Given the description of an element on the screen output the (x, y) to click on. 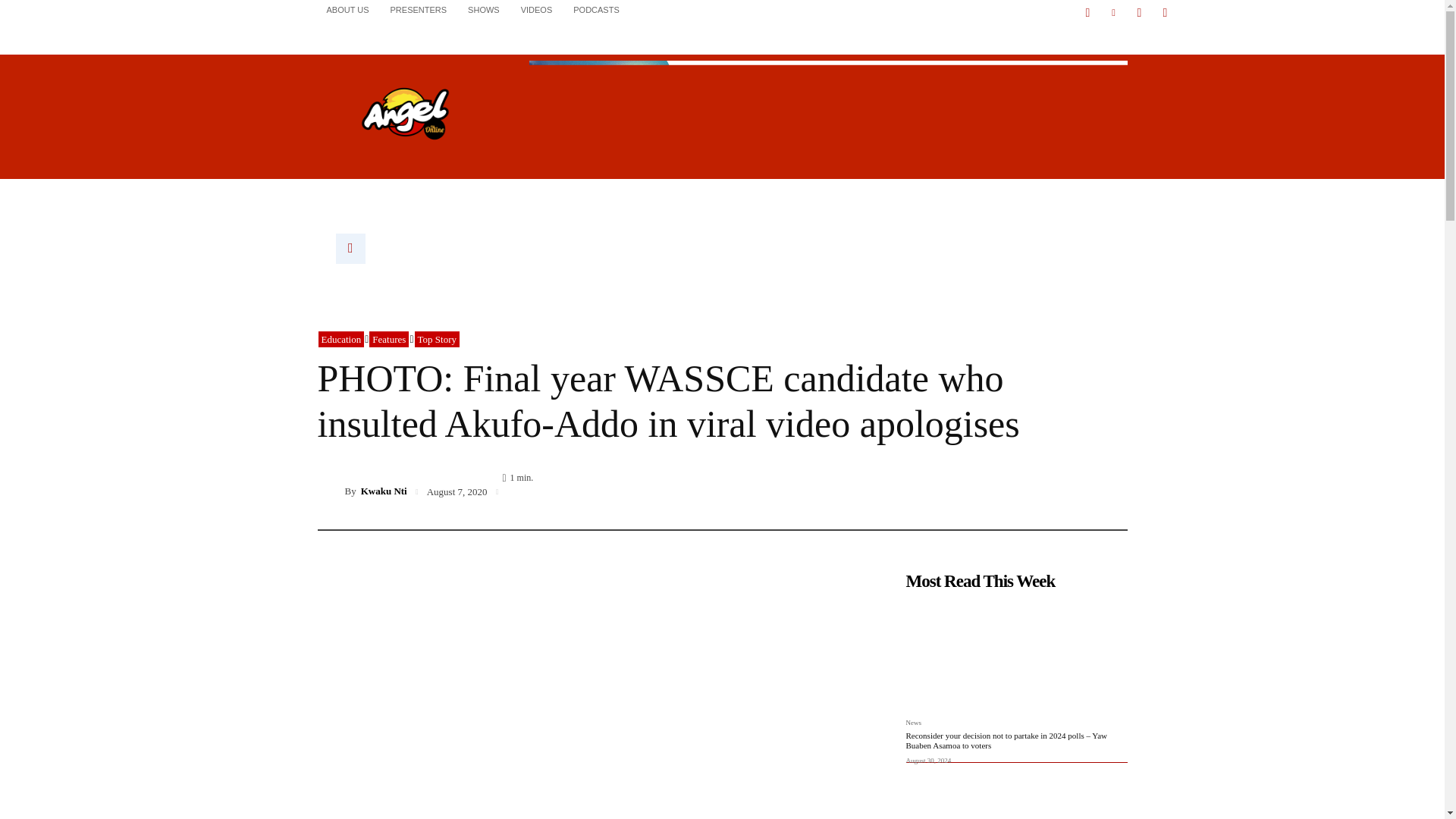
Twitter (1138, 13)
Kwaku Nti (330, 490)
PODCASTS (596, 9)
ABOUT US (346, 9)
SHOWS (484, 9)
Facebook (1087, 13)
Youtube (1164, 13)
PRESENTERS (419, 9)
VIDEOS (537, 9)
Linkedin (1112, 13)
